Given the description of an element on the screen output the (x, y) to click on. 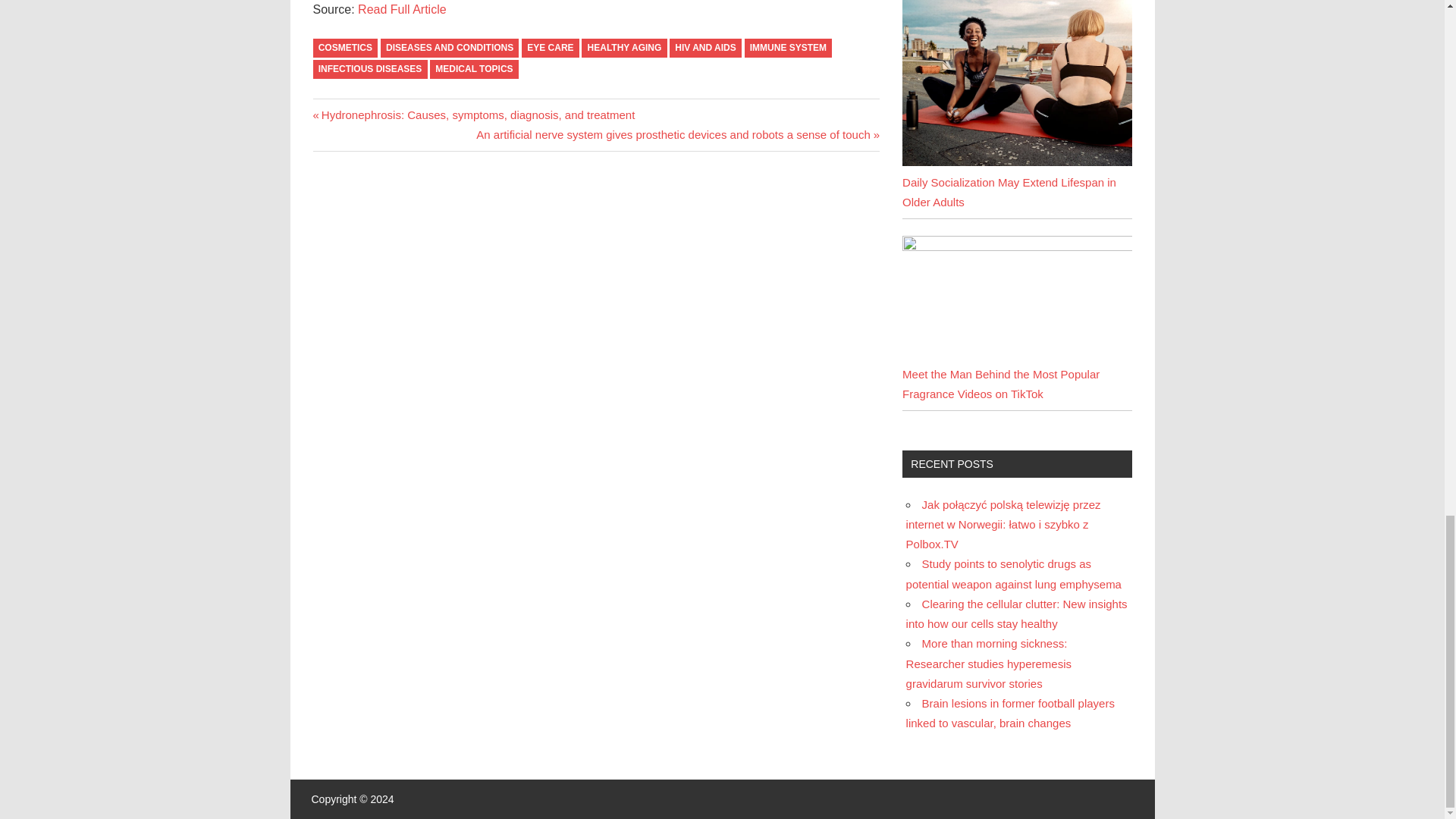
MEDICAL TOPICS (473, 68)
COSMETICS (345, 47)
IMMUNE SYSTEM (788, 47)
Read Full Article (402, 9)
Daily Socialization May Extend Lifespan in Older Adults (1016, 161)
HEALTHY AGING (623, 47)
Daily Socialization May Extend Lifespan in Older Adults (1009, 192)
Daily Socialization May Extend Lifespan in Older Adults (1016, 83)
INFECTIOUS DISEASES (369, 68)
